Given the description of an element on the screen output the (x, y) to click on. 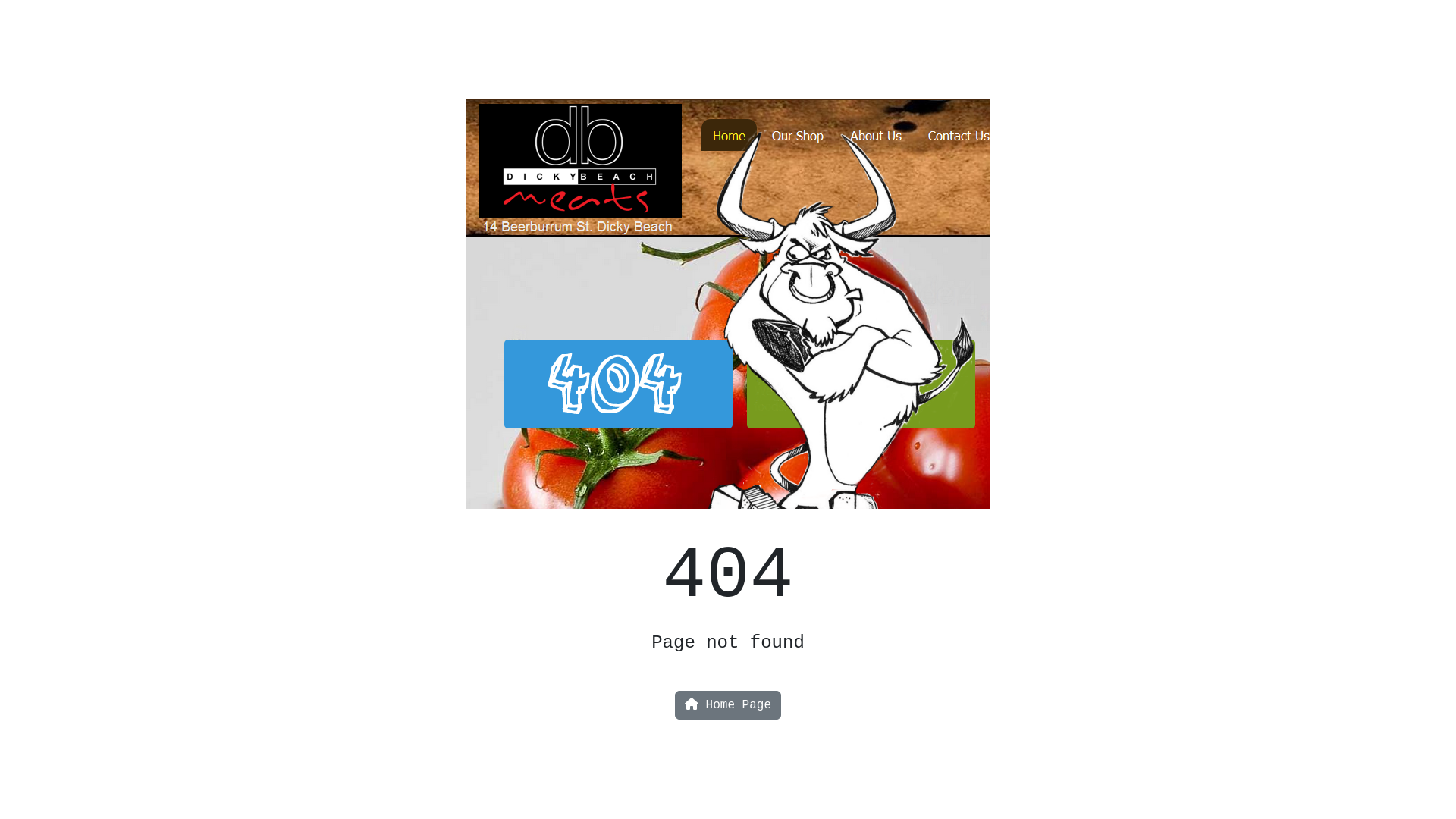
Home Page Element type: text (727, 704)
